Given the description of an element on the screen output the (x, y) to click on. 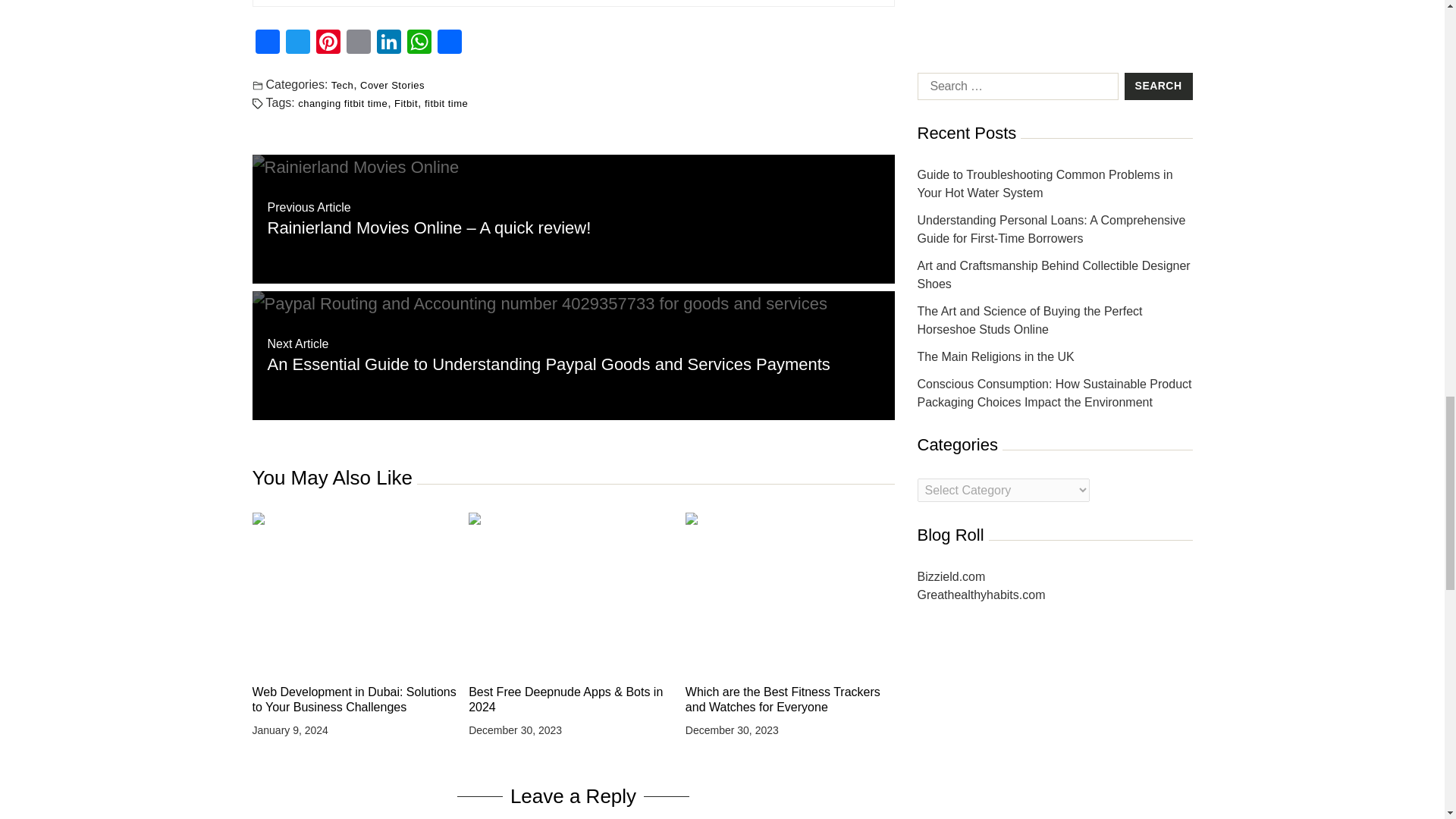
LinkedIn (387, 43)
Email (357, 43)
WhatsApp (418, 43)
Twitter (297, 43)
Pinterest (327, 43)
Facebook (266, 43)
